Given the description of an element on the screen output the (x, y) to click on. 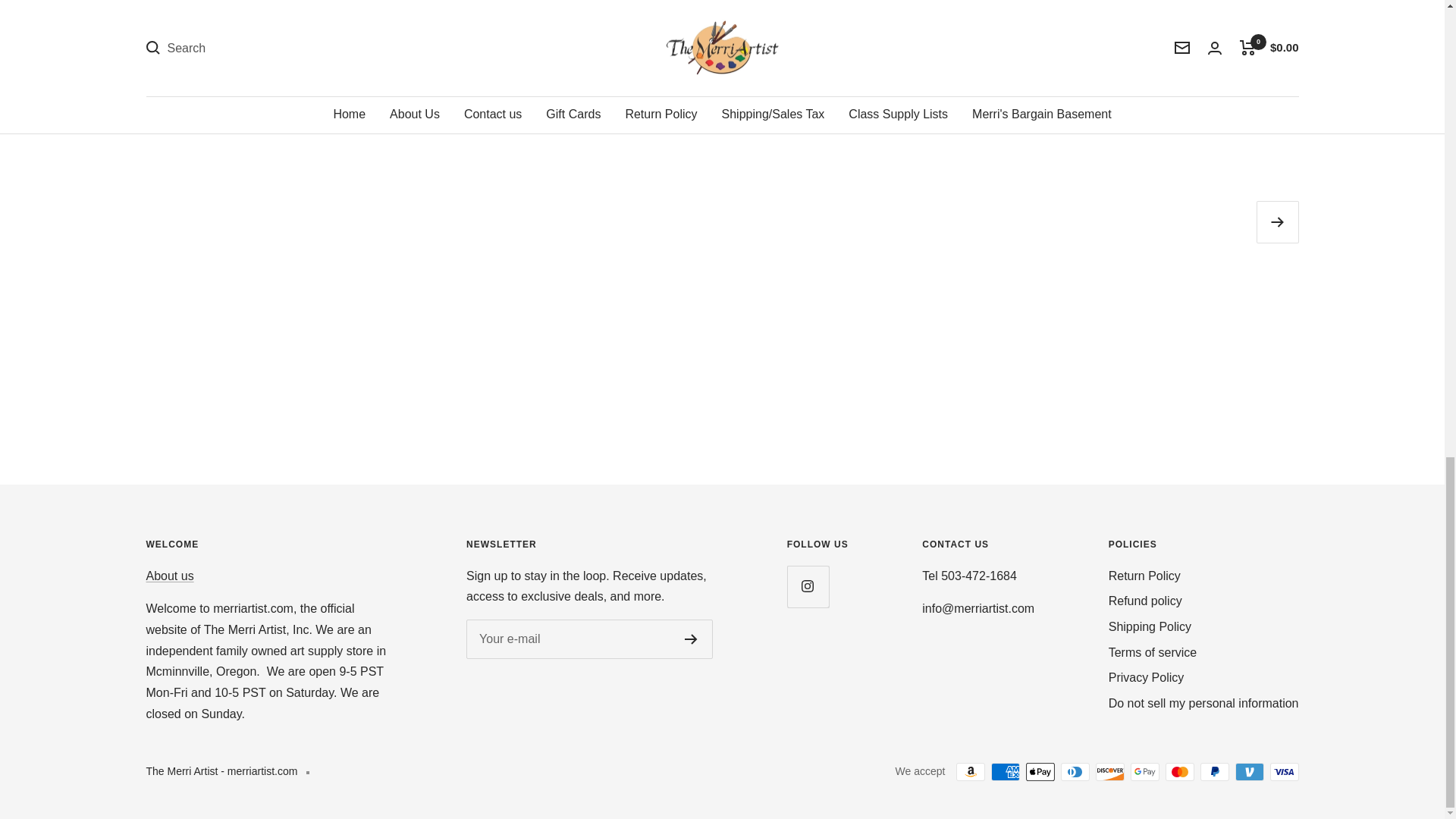
About Us (169, 575)
Register (690, 638)
